Given the description of an element on the screen output the (x, y) to click on. 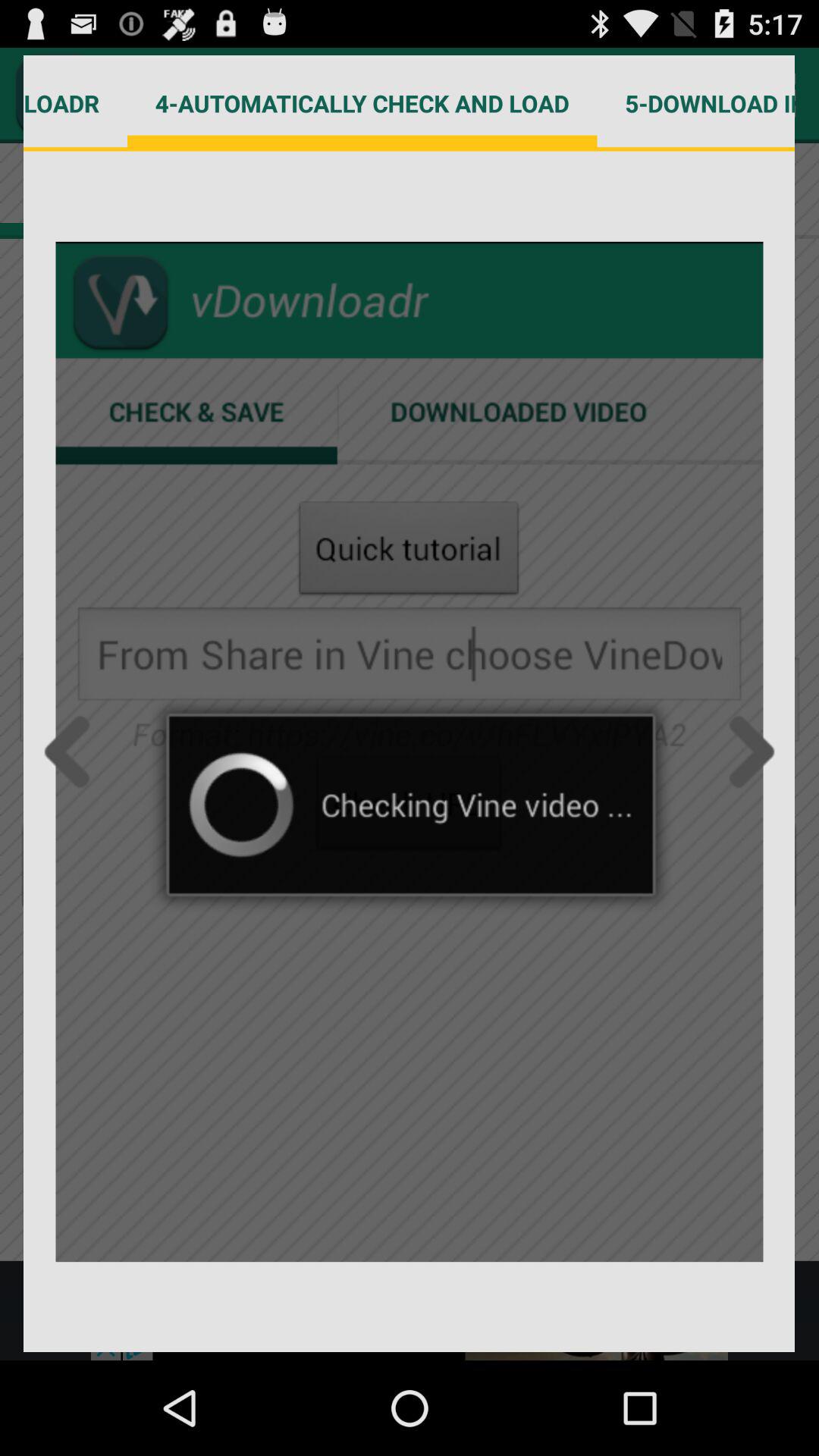
launch 4 automatically check (362, 103)
